Given the description of an element on the screen output the (x, y) to click on. 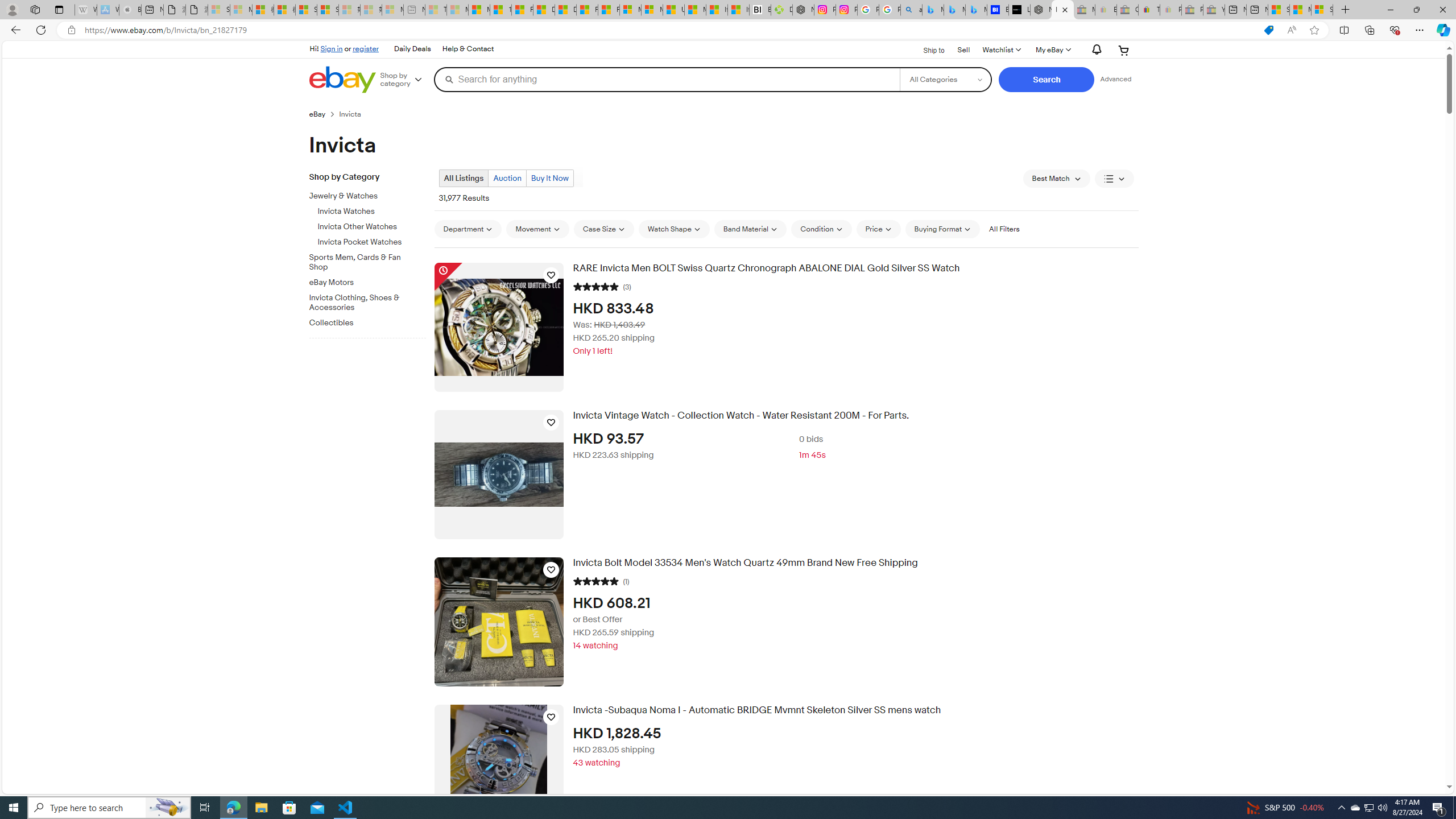
Help & Contact (467, 49)
Buying Format (941, 229)
eBay (323, 113)
Payments Terms of Use | eBay.com - Sleeping (1170, 9)
